Given the description of an element on the screen output the (x, y) to click on. 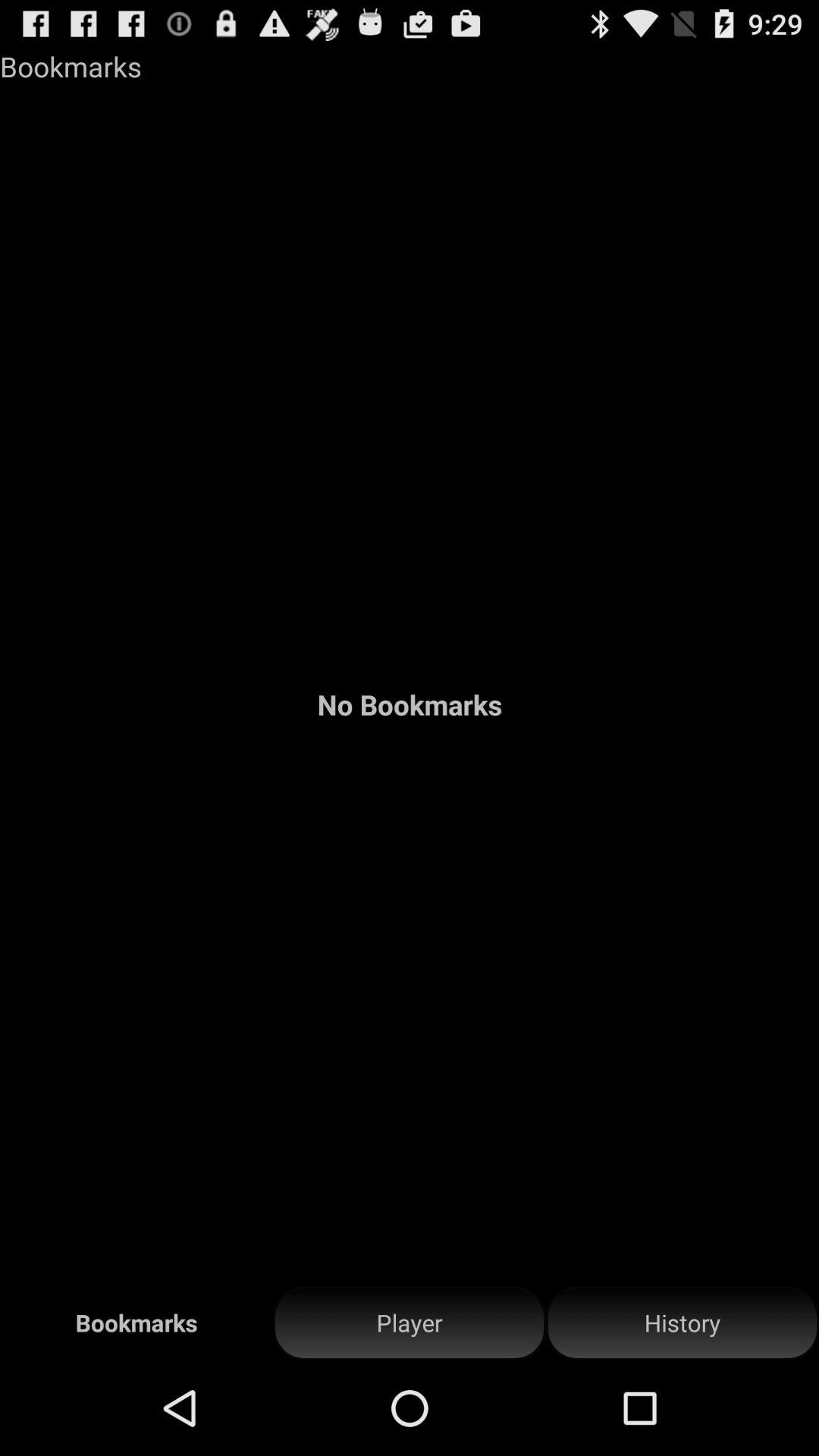
turn on the icon to the left of the history item (409, 1323)
